Given the description of an element on the screen output the (x, y) to click on. 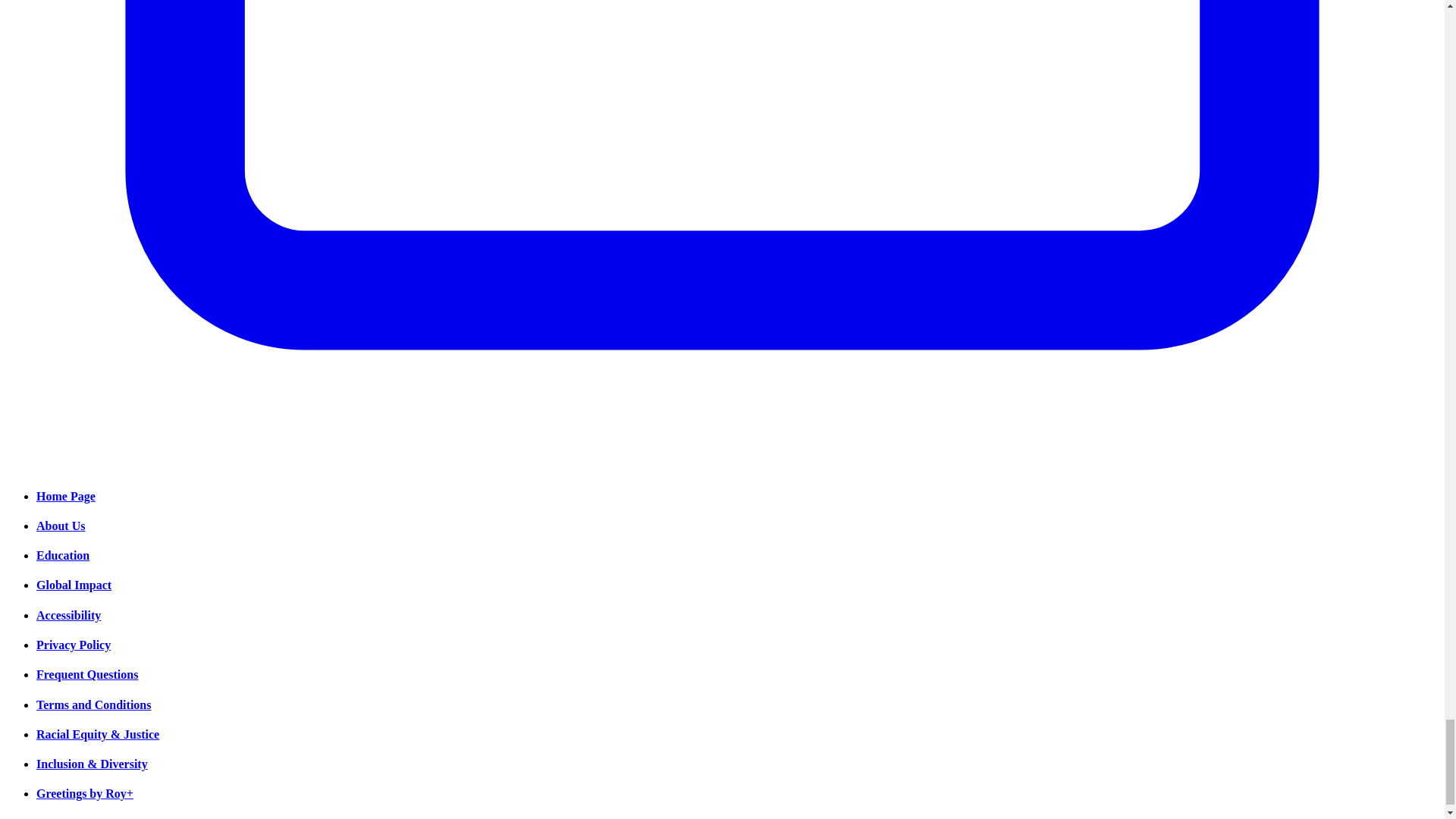
About Us (60, 525)
Education (62, 554)
Frequent Questions (87, 674)
Home Page (66, 495)
Global Impact (74, 584)
Privacy Policy (73, 644)
Accessibility (68, 615)
